Given the description of an element on the screen output the (x, y) to click on. 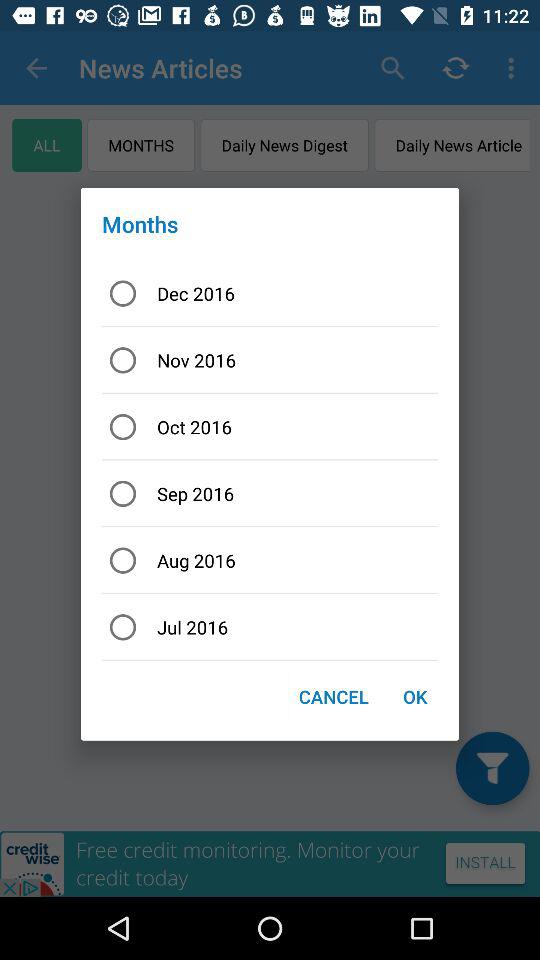
press the icon below oct 2016 (269, 493)
